Given the description of an element on the screen output the (x, y) to click on. 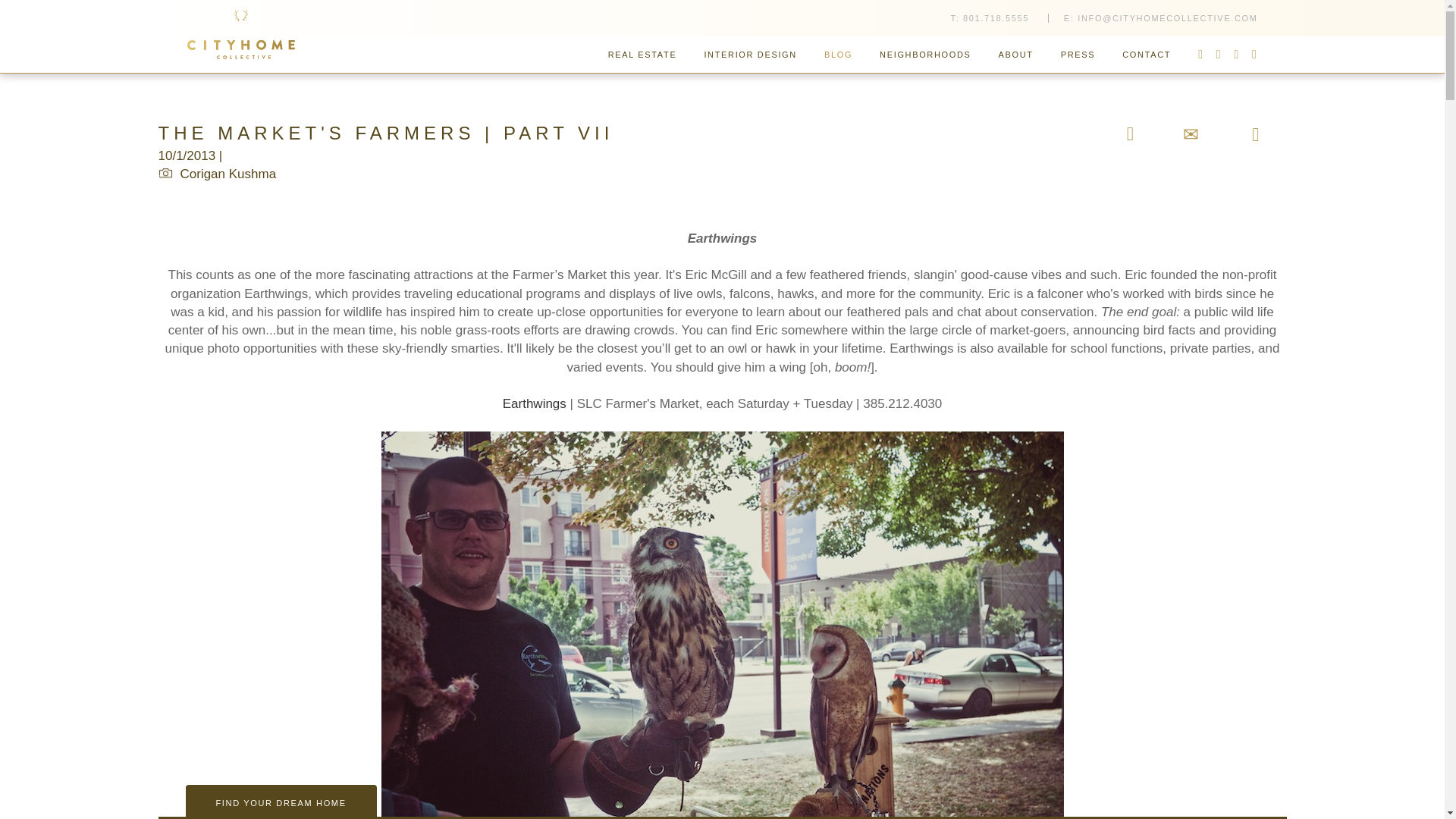
801.718.5555 (995, 17)
Earthwings (534, 403)
CONTACT (1146, 54)
BLOG (838, 54)
PRESS (1077, 54)
ABOUT (1015, 54)
NEIGHBORHOODS (925, 54)
REAL ESTATE (642, 54)
INTERIOR DESIGN (750, 54)
